Given the description of an element on the screen output the (x, y) to click on. 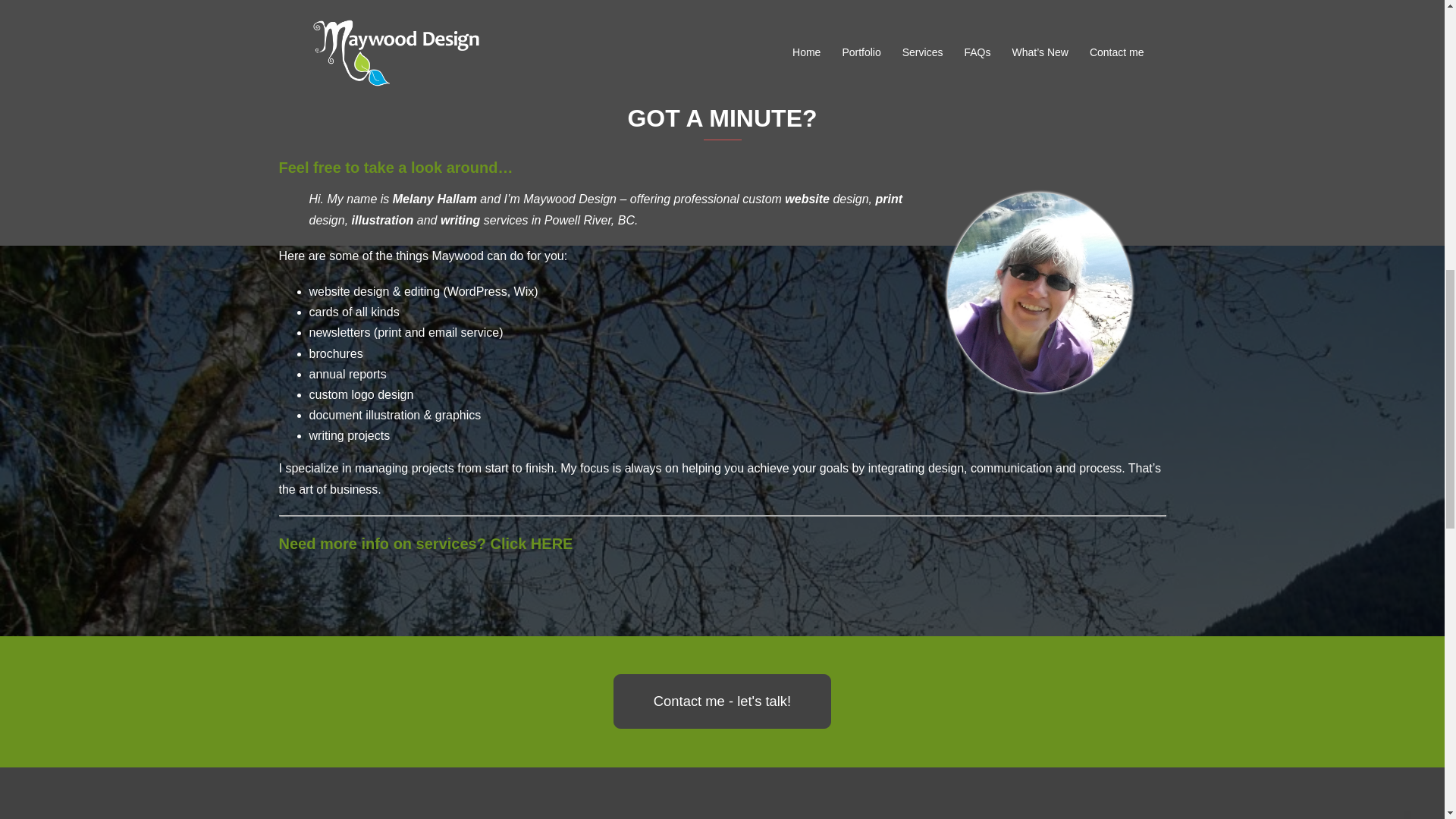
Contact me - let's talk! (720, 701)
HERE (552, 543)
